Given the description of an element on the screen output the (x, y) to click on. 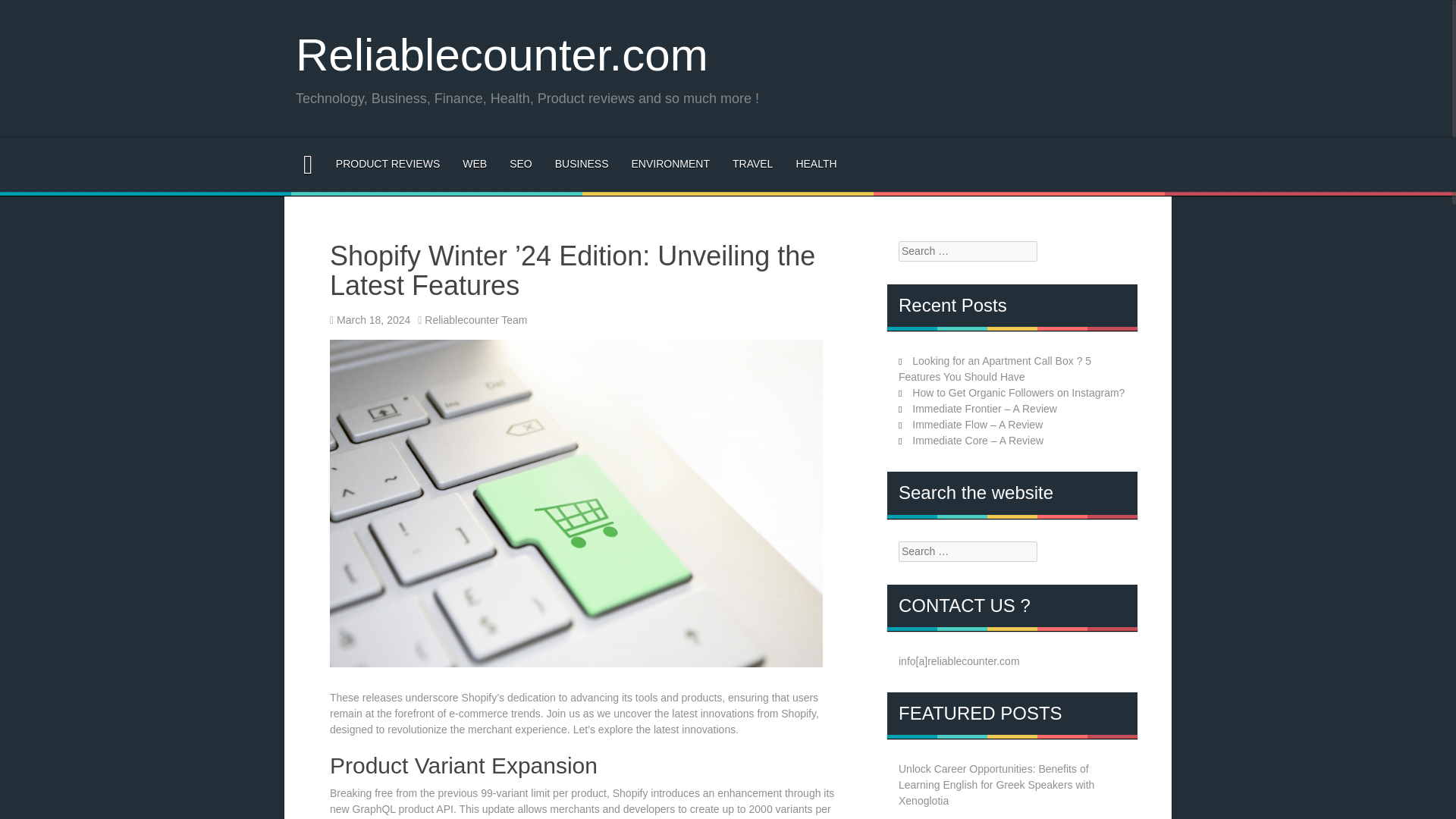
HEALTH (814, 163)
PRODUCT REVIEWS (387, 163)
Search (22, 10)
ENVIRONMENT (670, 163)
March 18, 2024 (373, 319)
WEB (474, 163)
How to Get Organic Followers on Instagram? (1018, 392)
SEO (520, 163)
Reliablecounter Team (476, 319)
BUSINESS (581, 163)
Reliablecounter.com (501, 54)
TRAVEL (752, 163)
